Given the description of an element on the screen output the (x, y) to click on. 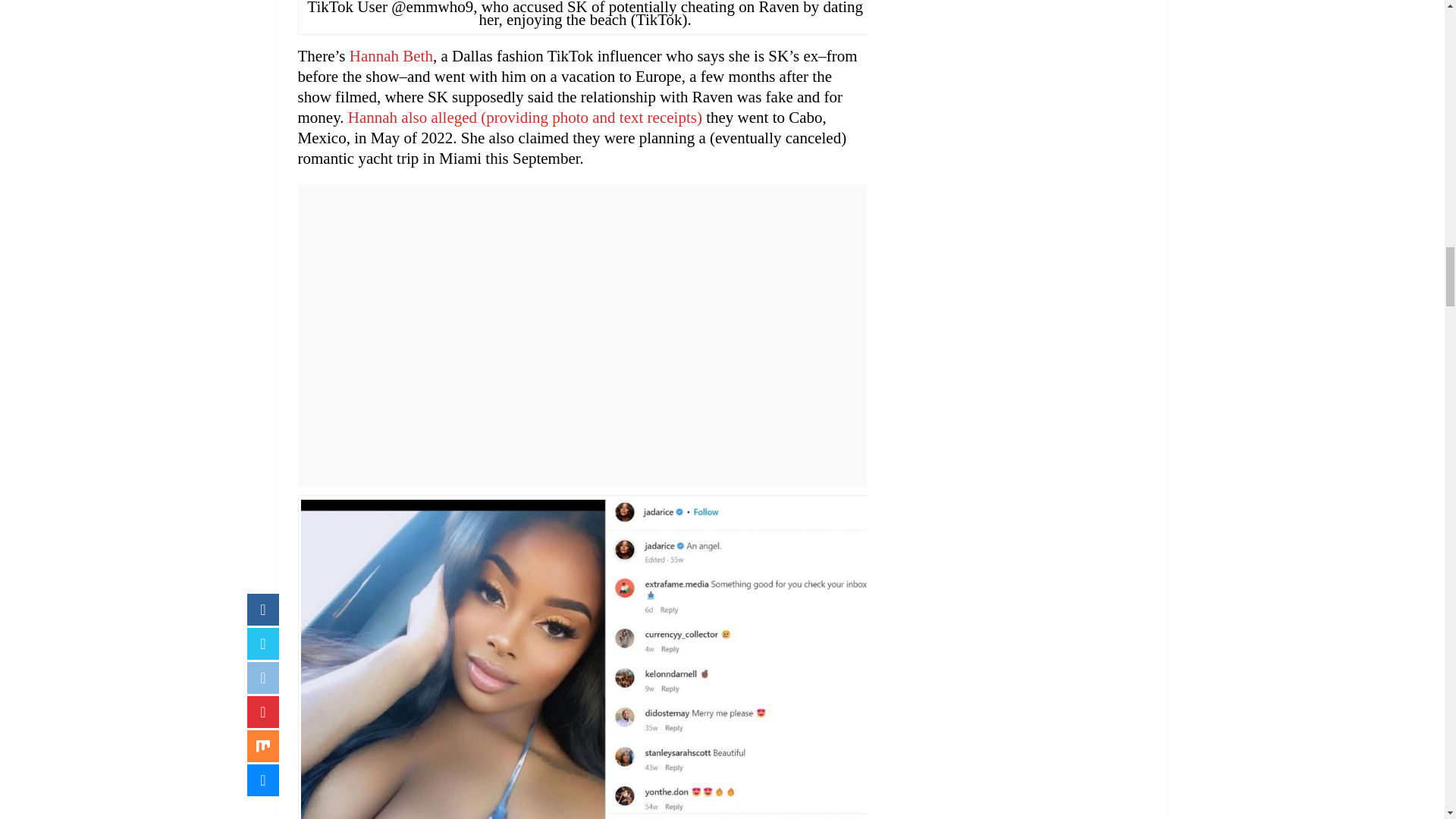
Hannah Beth (390, 55)
